Given the description of an element on the screen output the (x, y) to click on. 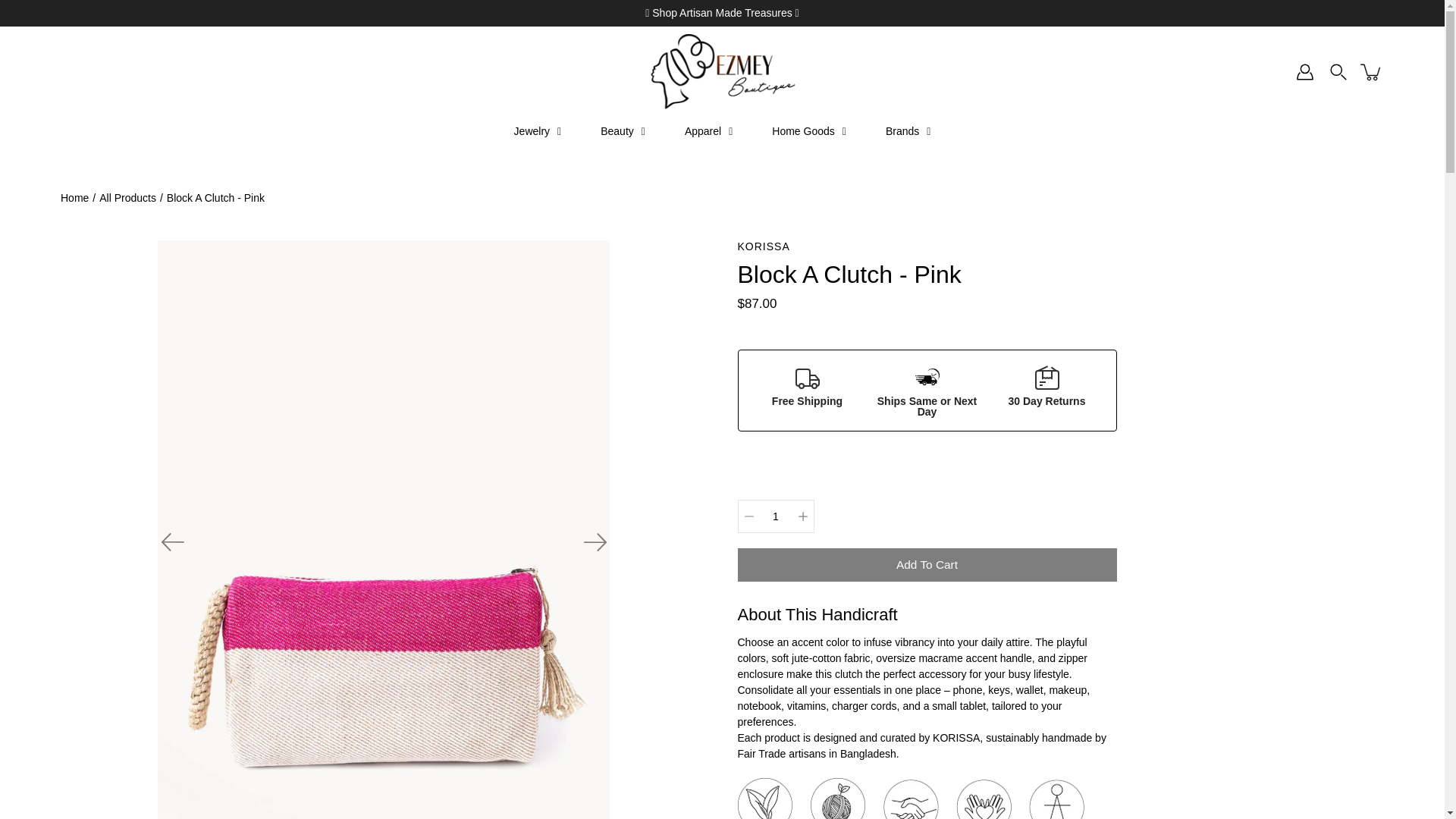
1 (774, 516)
Jewelry (537, 131)
Jewelry (537, 131)
